Given the description of an element on the screen output the (x, y) to click on. 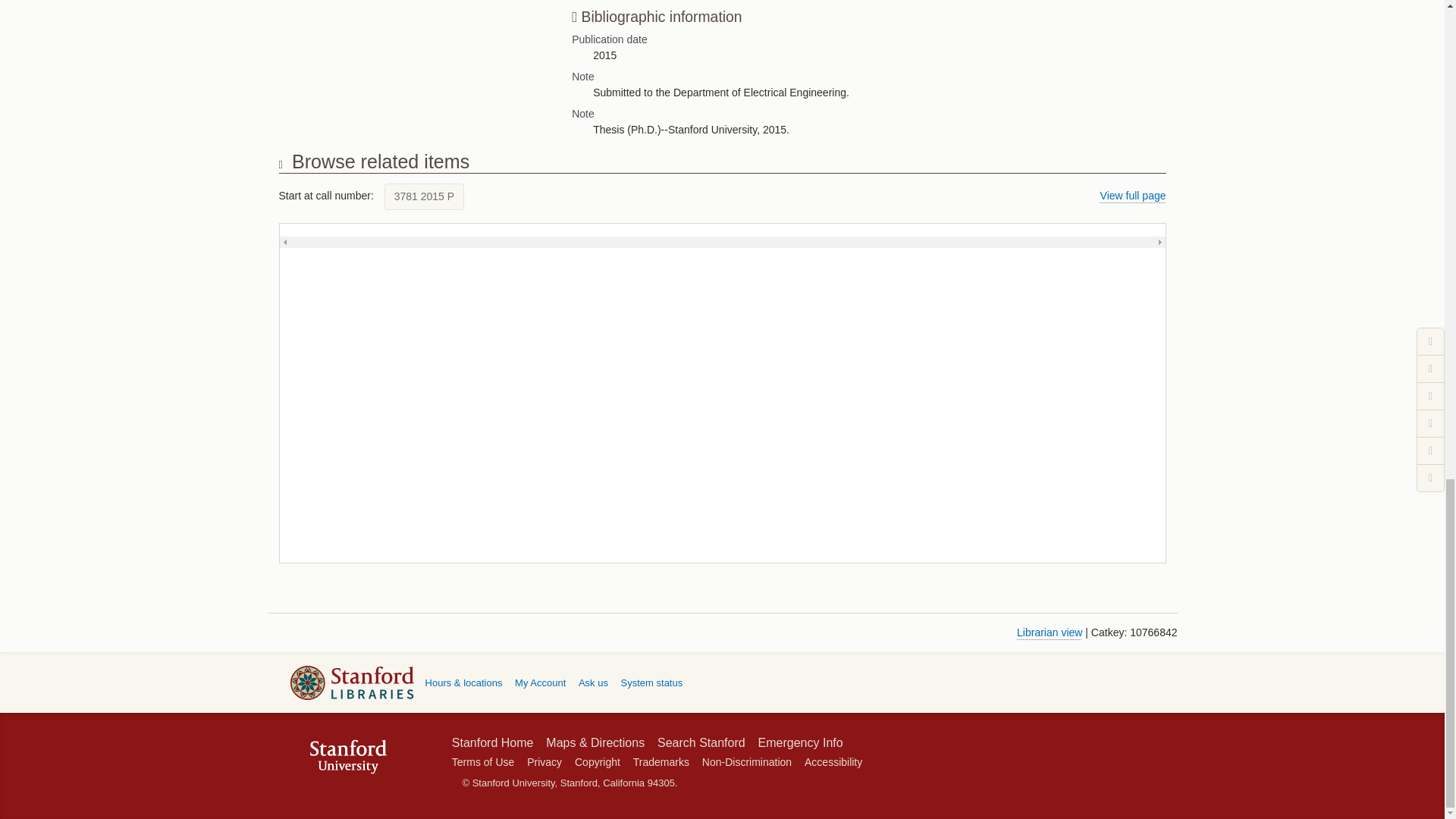
Report alleged copyright infringement (597, 761)
Publication date (853, 39)
Terms of use for sites (482, 761)
Privacy and cookie policy (544, 761)
